Given the description of an element on the screen output the (x, y) to click on. 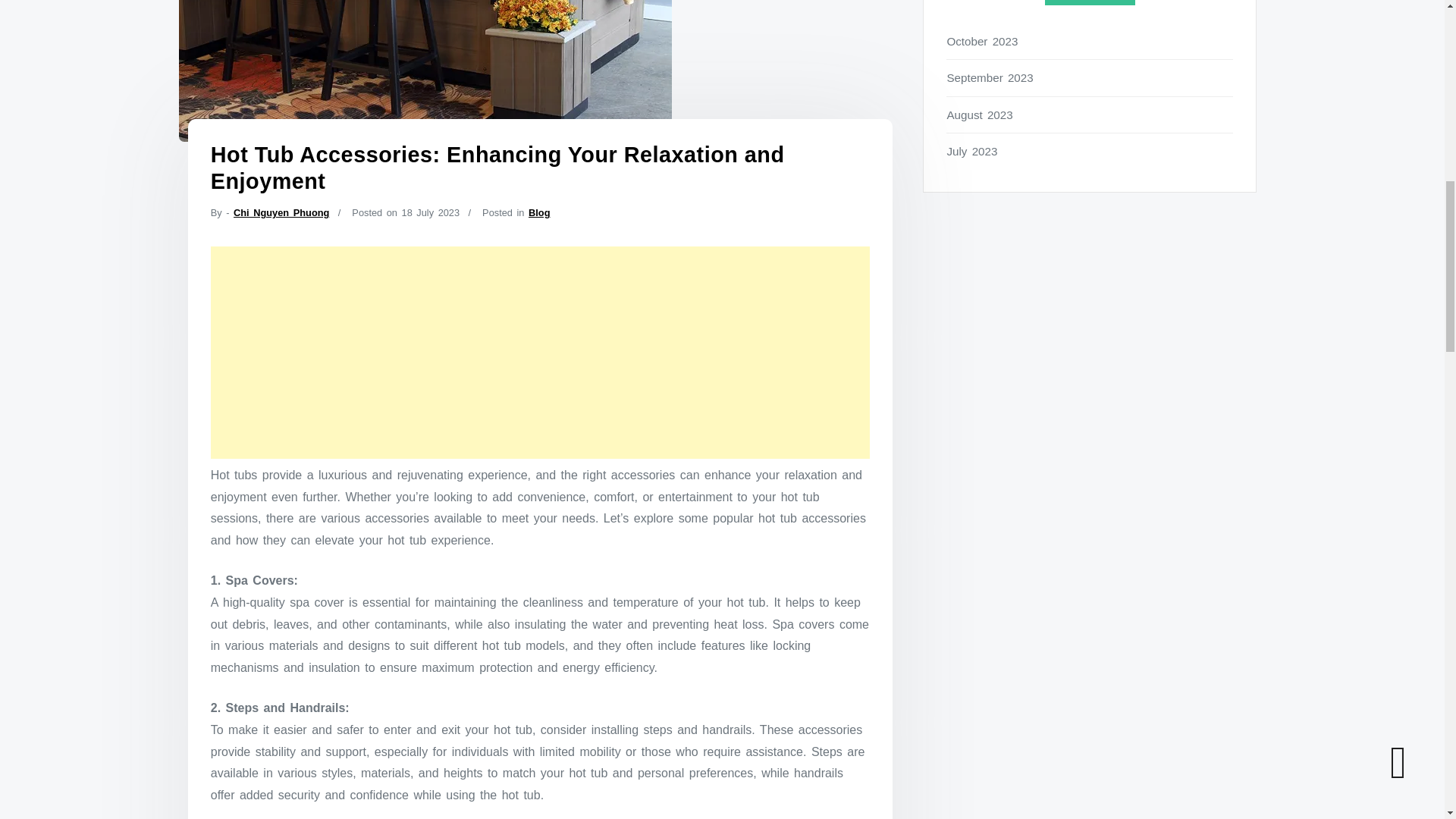
July 2023 (1089, 150)
August 2023 (1089, 114)
October 2023 (1089, 41)
September 2023 (1089, 77)
Chi Nguyen Phuong (280, 212)
Blog (539, 212)
